Given the description of an element on the screen output the (x, y) to click on. 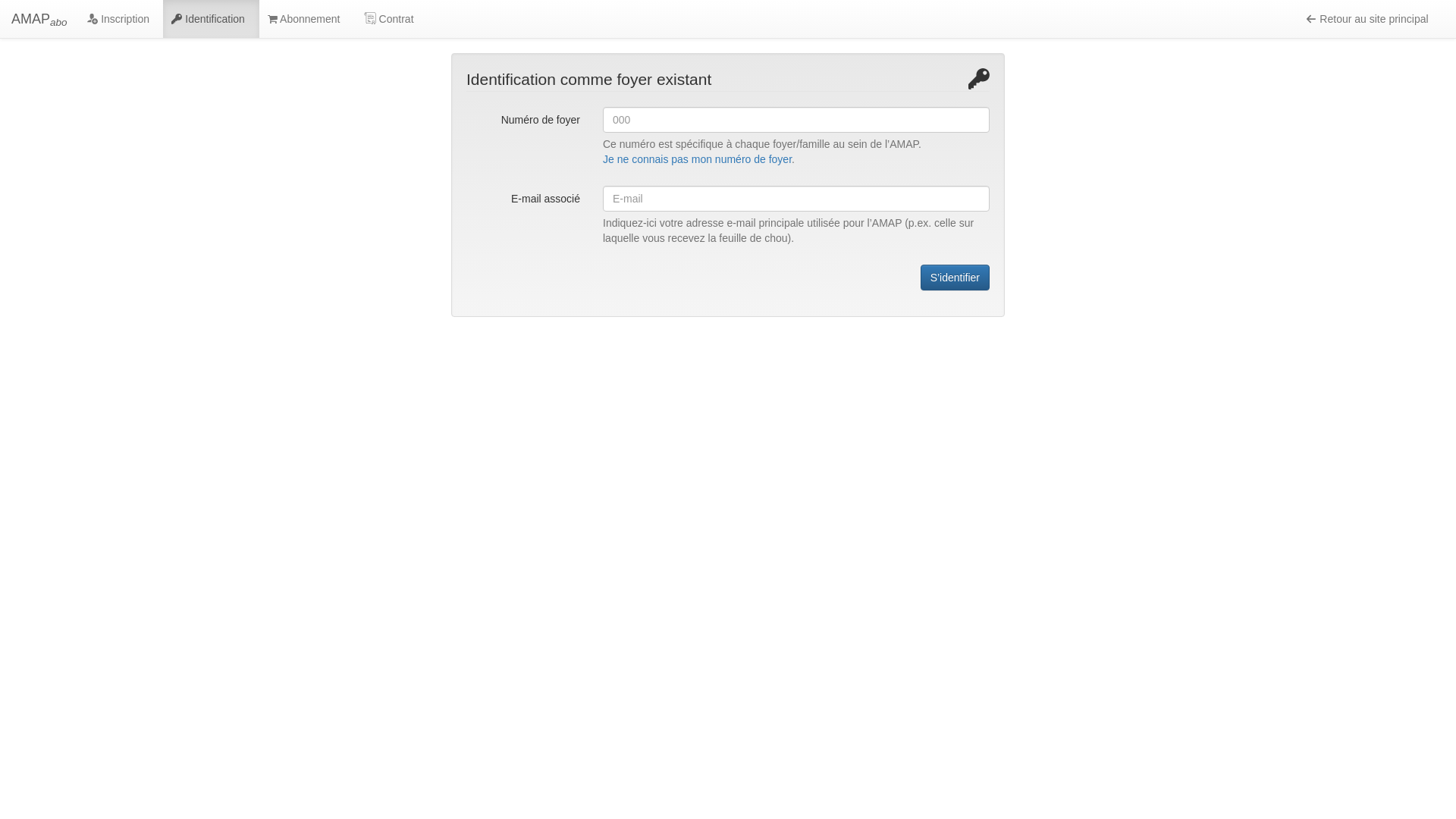
Contrat Element type: text (390, 18)
Retour au site principal Element type: text (1371, 18)
Identification Element type: text (211, 18)
Inscription Element type: text (120, 18)
AMAPabo Element type: text (39, 18)
Abonnement Element type: text (306, 18)
